Given the description of an element on the screen output the (x, y) to click on. 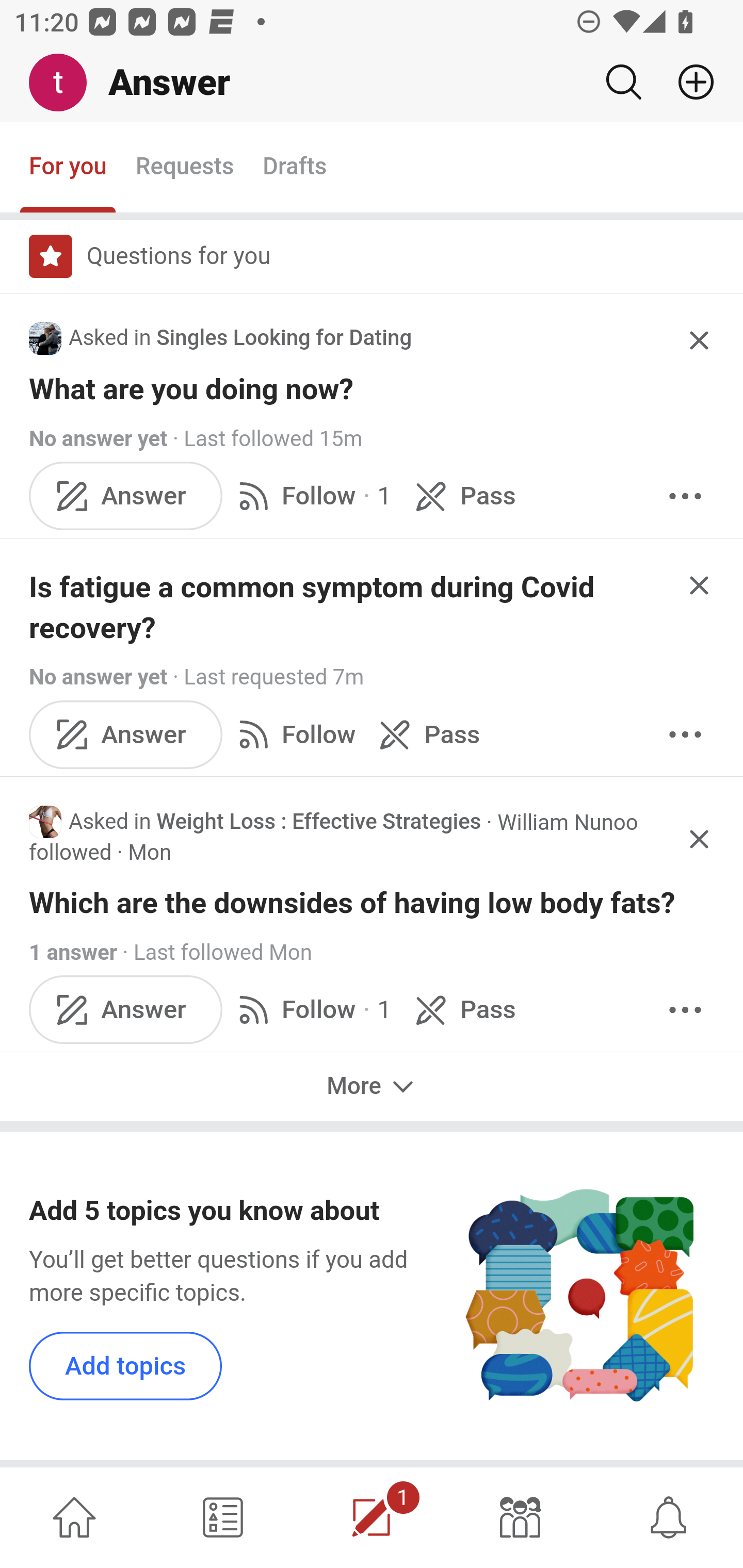
Me (64, 83)
Search (623, 82)
Add (688, 82)
For you (68, 167)
Requests (183, 167)
Drafts (295, 167)
Hide (699, 340)
Icon for Singles Looking for Dating (44, 338)
What are you doing now? (372, 389)
Answer (125, 495)
Follow · 1 (311, 495)
Pass (461, 495)
More (684, 495)
Hide (699, 583)
Is fatigue a common symptom during Covid recovery? (352, 607)
Answer (125, 734)
Follow (293, 734)
Pass (425, 734)
More (684, 734)
Icon for Weight Loss : Effective Strategies (44, 822)
Hide (699, 839)
Which are the downsides of having low body fats? (372, 903)
Answer (125, 1009)
Follow · 1 (311, 1009)
Pass (461, 1009)
More (684, 1009)
More (371, 1086)
Add topics (125, 1366)
